Given the description of an element on the screen output the (x, y) to click on. 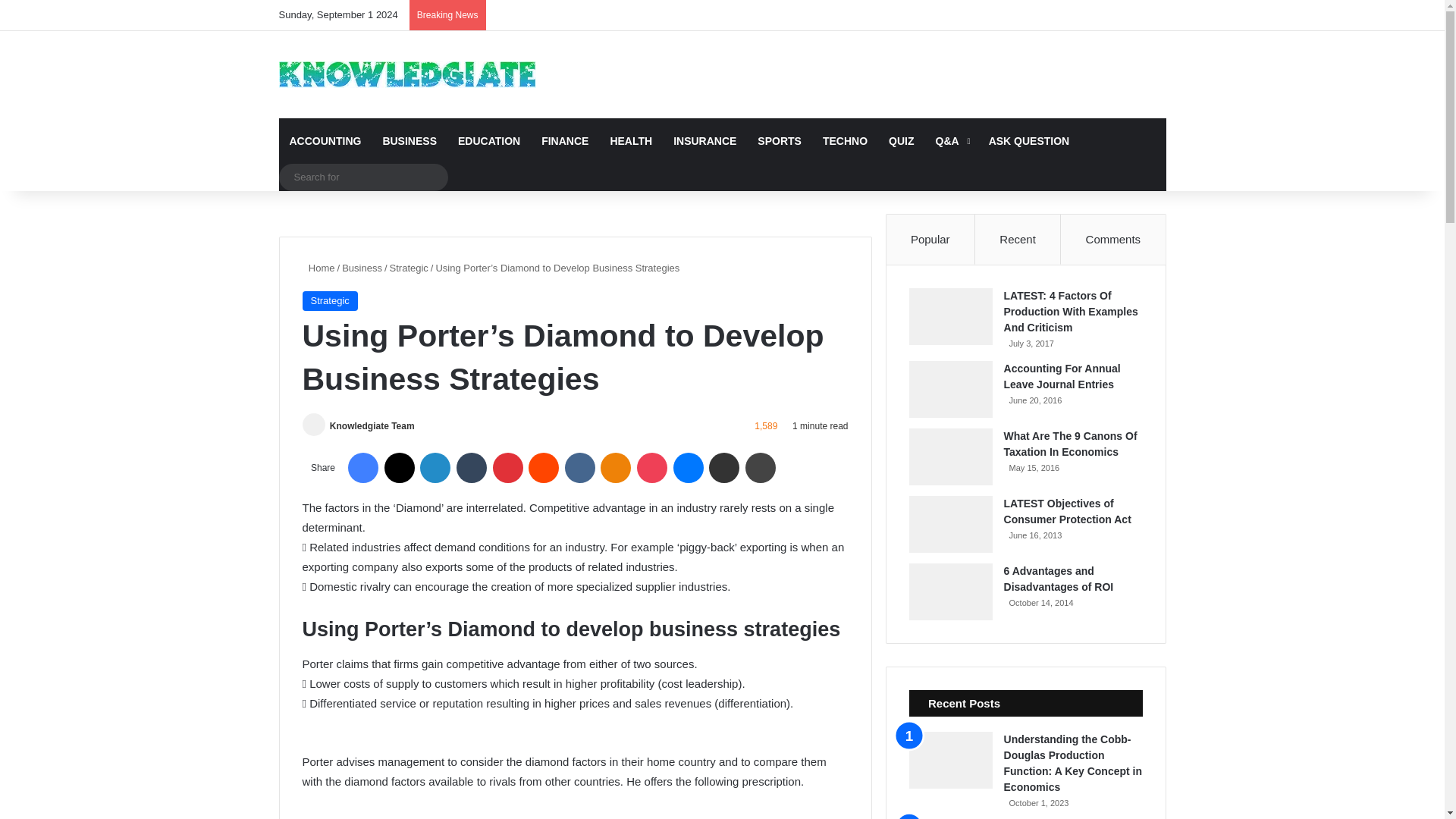
HEALTH (630, 140)
INSURANCE (704, 140)
X (399, 467)
EDUCATION (488, 140)
Pinterest (507, 467)
SPORTS (779, 140)
Reddit (543, 467)
Odnoklassniki (614, 467)
Tumblr (471, 467)
Print (760, 467)
